Given the description of an element on the screen output the (x, y) to click on. 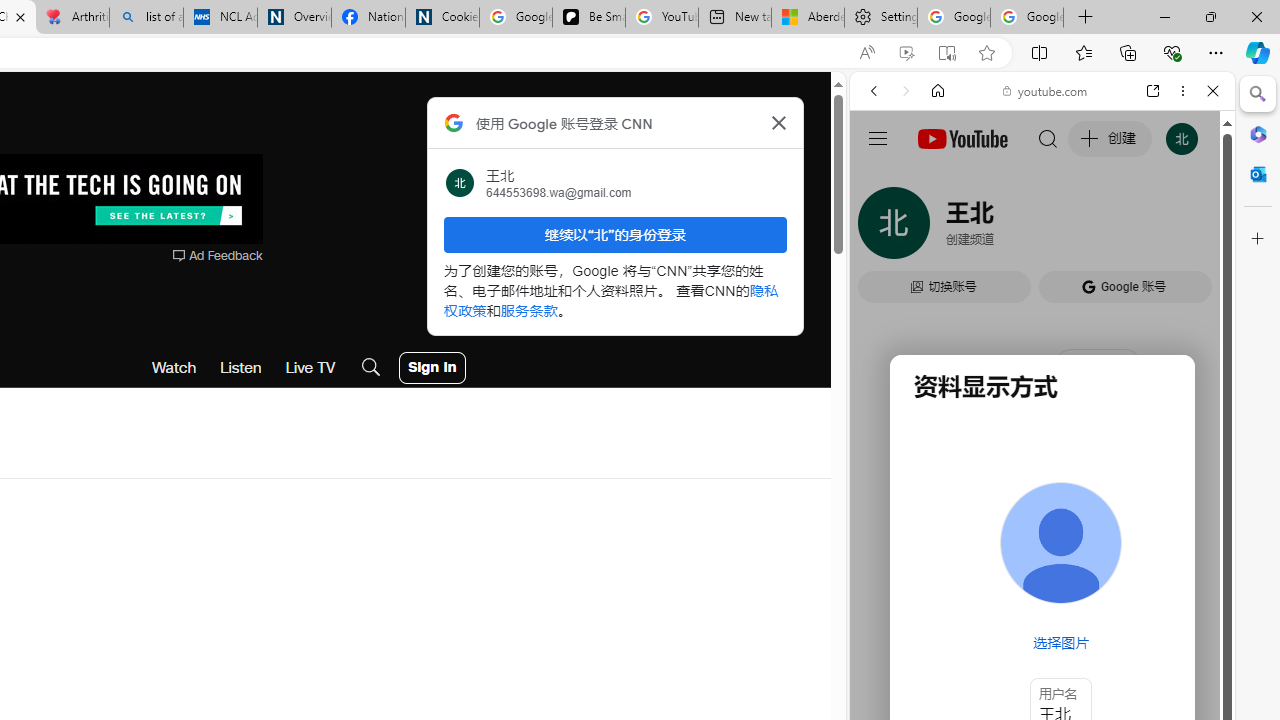
Cookies (441, 17)
Enhance video (906, 53)
NCL Adult Asthma Inhaler Choice Guideline (220, 17)
Trailer #2 [HD] (1042, 594)
Preferences (1189, 228)
Google (947, 584)
